Given the description of an element on the screen output the (x, y) to click on. 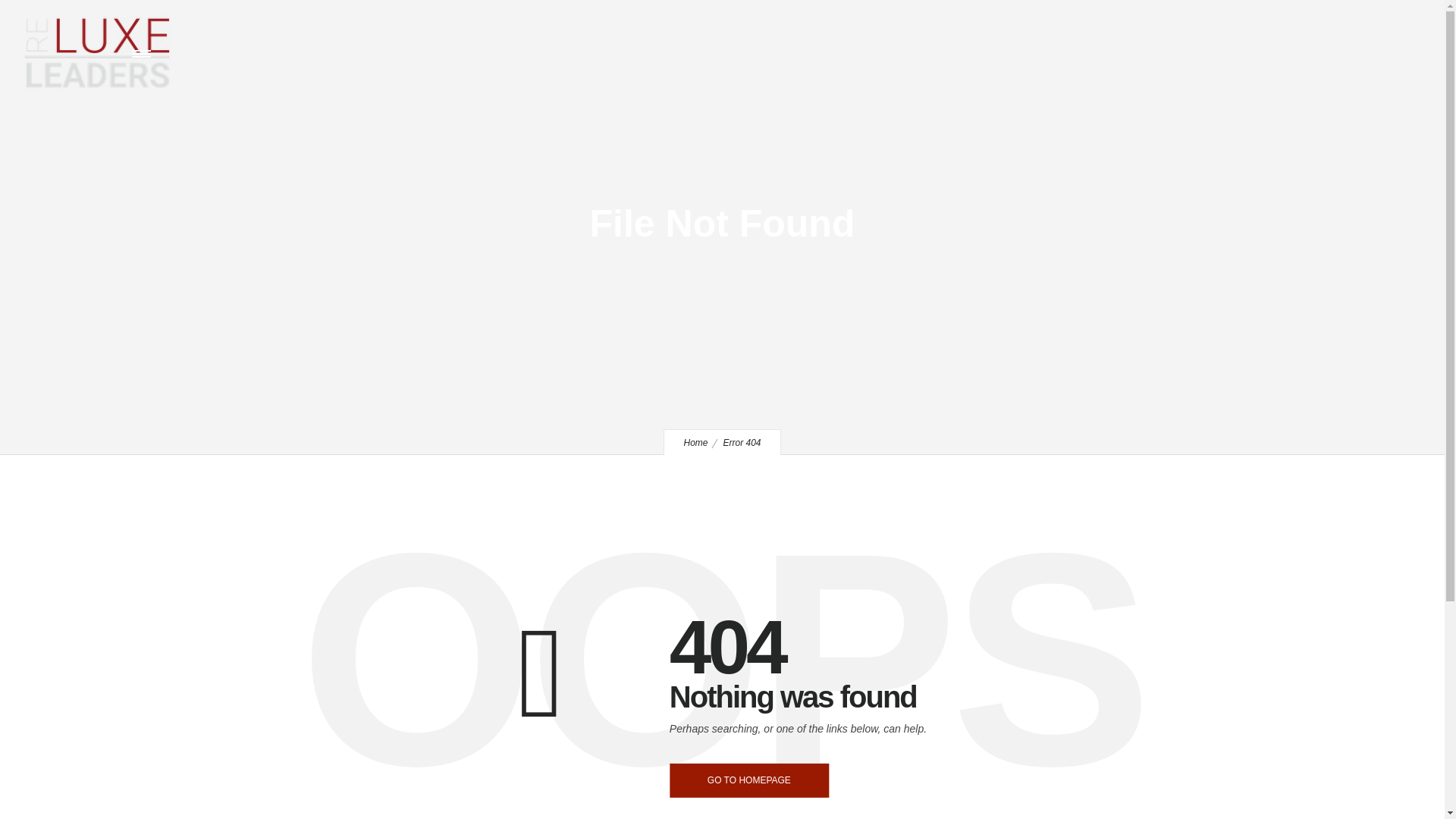
menu (144, 53)
GO TO HOMEPAGE (748, 780)
Home (694, 442)
